Given the description of an element on the screen output the (x, y) to click on. 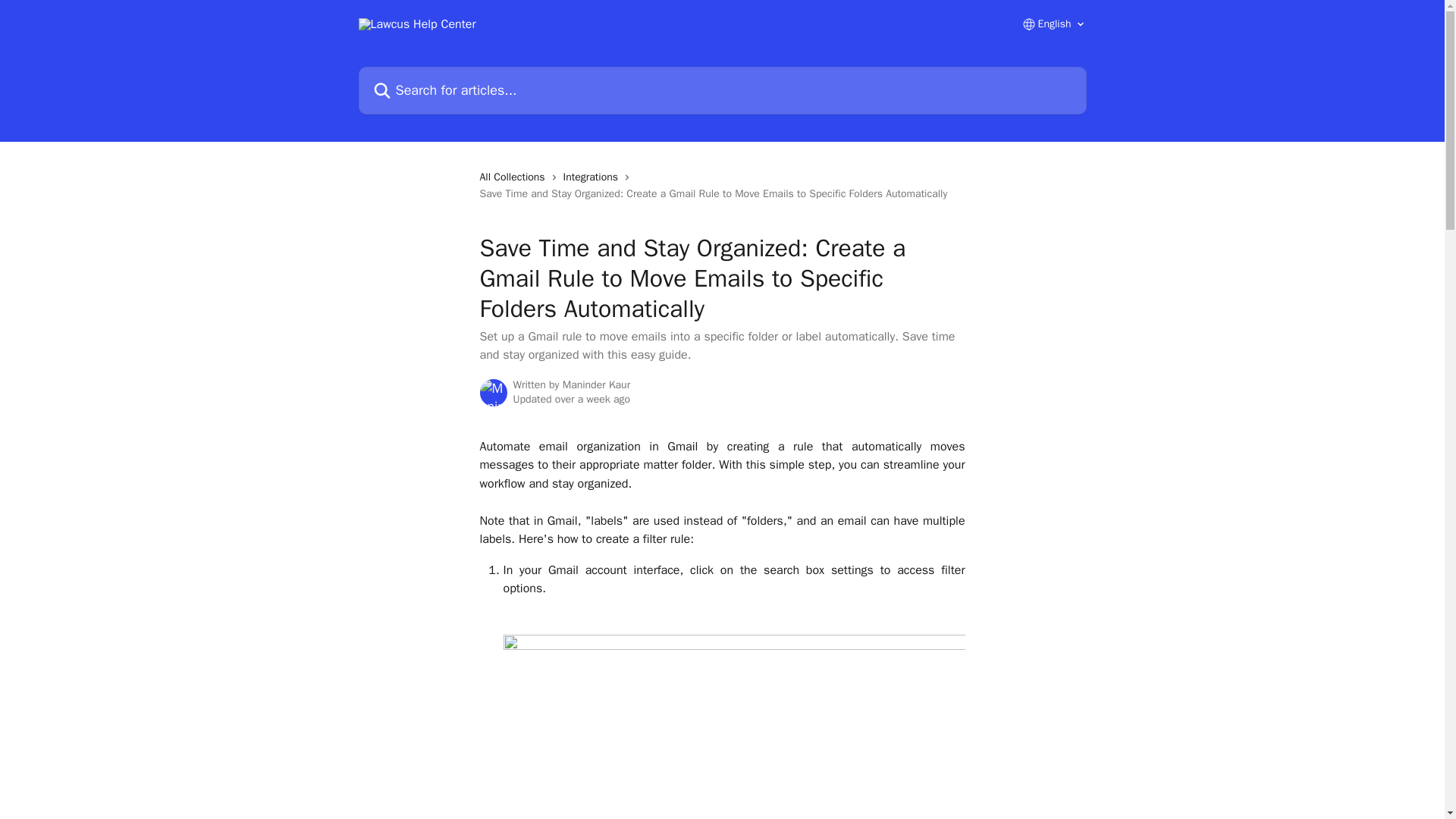
All Collections (514, 176)
Integrations (593, 176)
